Given the description of an element on the screen output the (x, y) to click on. 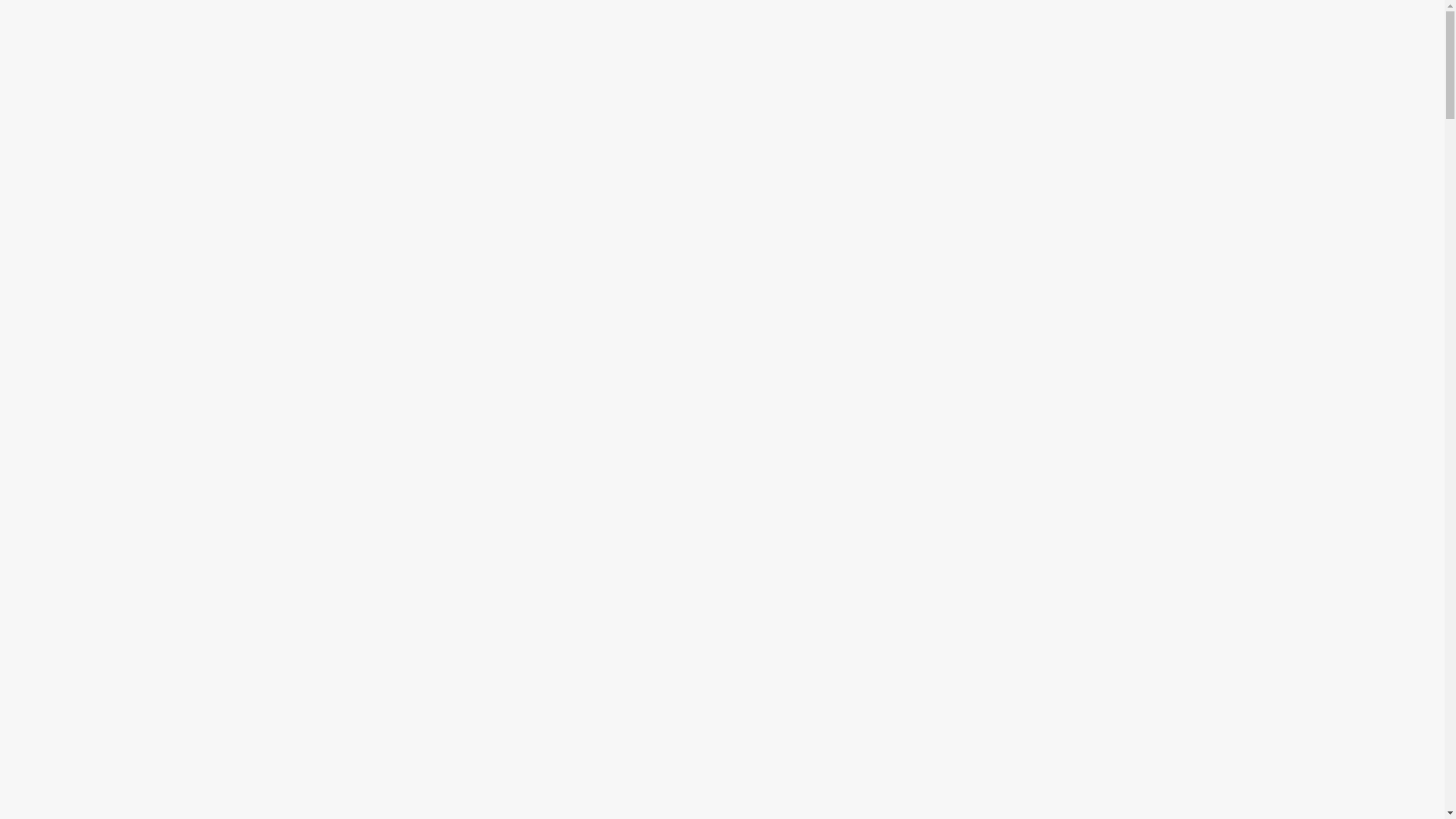
Suche Element type: text (15, 18)
